Given the description of an element on the screen output the (x, y) to click on. 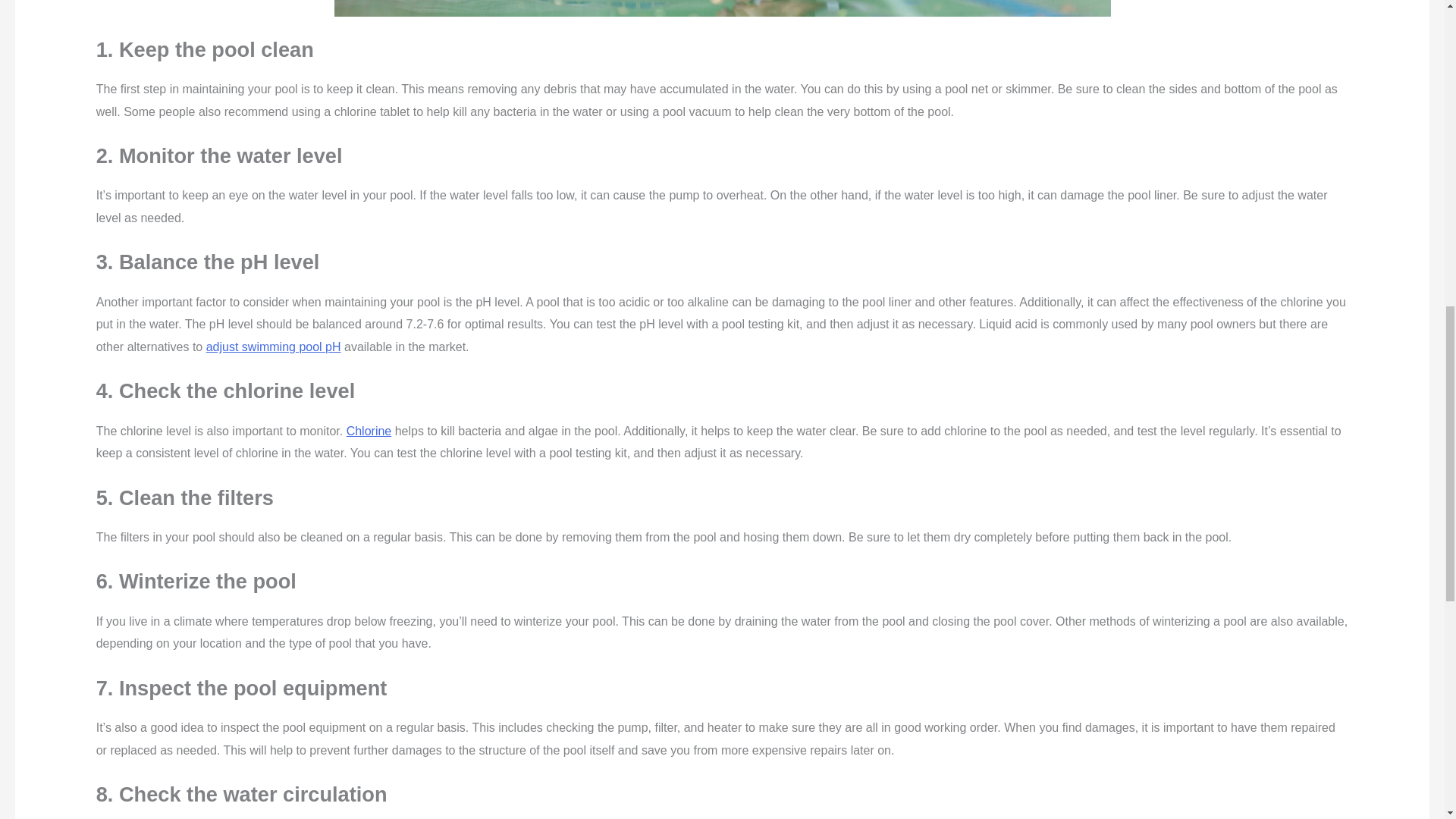
Chlorine (368, 431)
adjust swimming pool pH (273, 346)
